Given the description of an element on the screen output the (x, y) to click on. 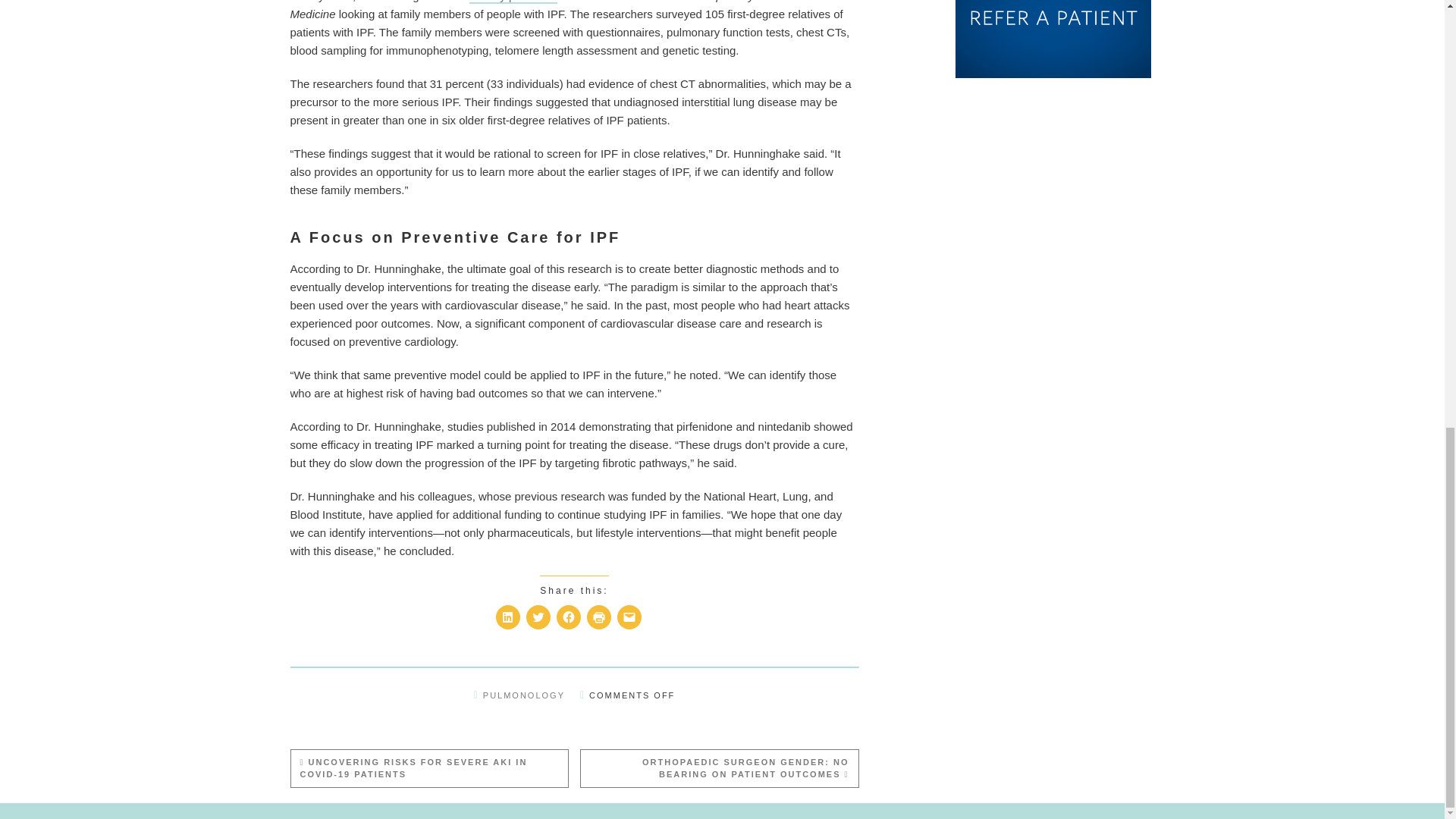
Click to print (598, 617)
PULMONOLOGY (523, 695)
ORTHOPAEDIC SURGEON GENDER: NO BEARING ON PATIENT OUTCOMES (719, 768)
Click to share on LinkedIn (507, 617)
a study published (512, 1)
Click to share on Facebook (568, 617)
Click to share on Twitter (537, 617)
UNCOVERING RISKS FOR SEVERE AKI IN COVID-19 PATIENTS (430, 768)
Click to email a link to a friend (629, 617)
